Given the description of an element on the screen output the (x, y) to click on. 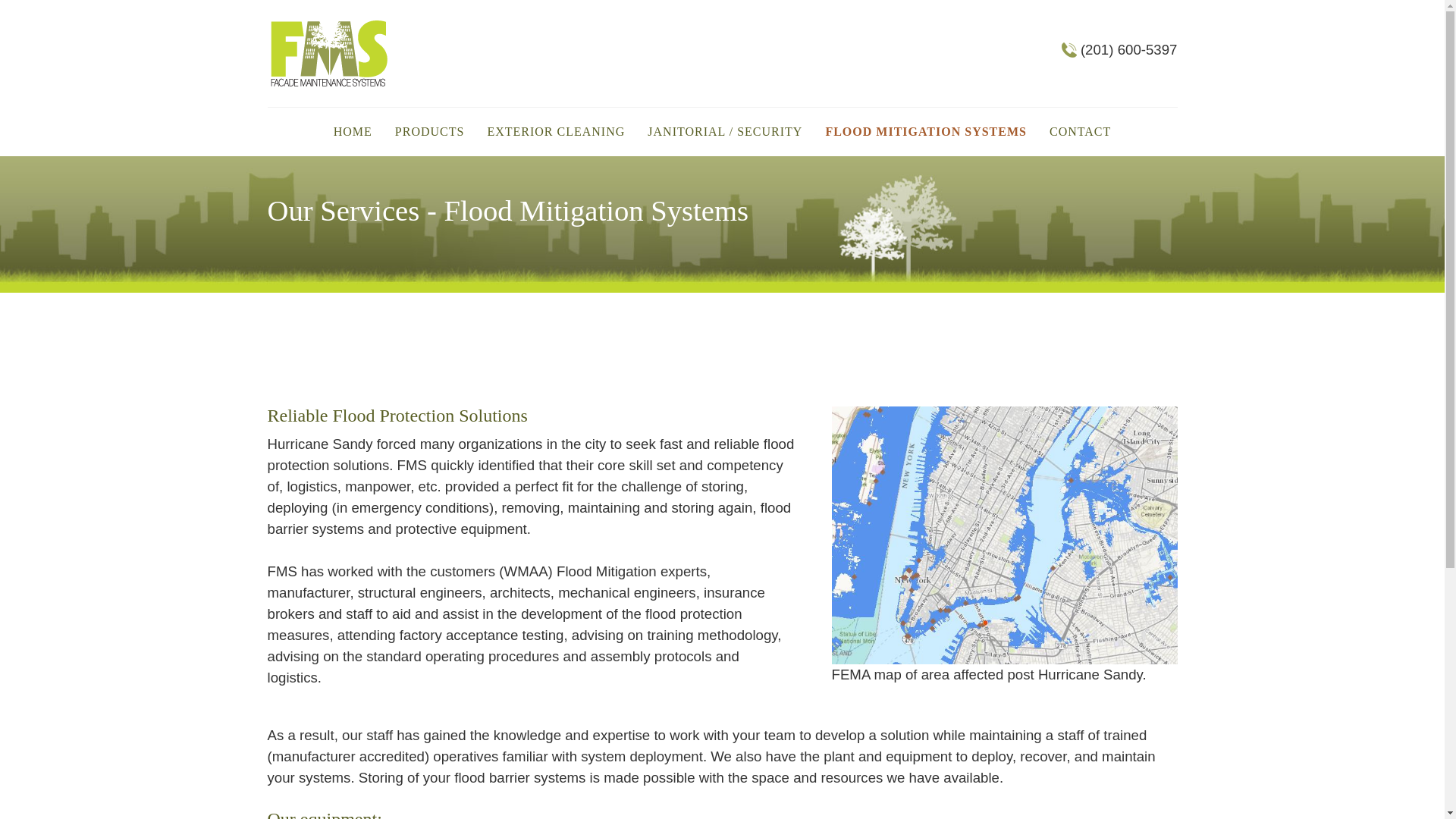
FEMA Map of Affected Area by Hurricane Sandy (1003, 535)
Phone Icon (1070, 49)
PRODUCTS (429, 131)
HOME (353, 131)
FACADE MAINTENANCE SYSTEMS (328, 53)
CONTACT (1080, 131)
FLOOD MITIGATION SYSTEMS (924, 131)
EXTERIOR CLEANING (555, 131)
